Given the description of an element on the screen output the (x, y) to click on. 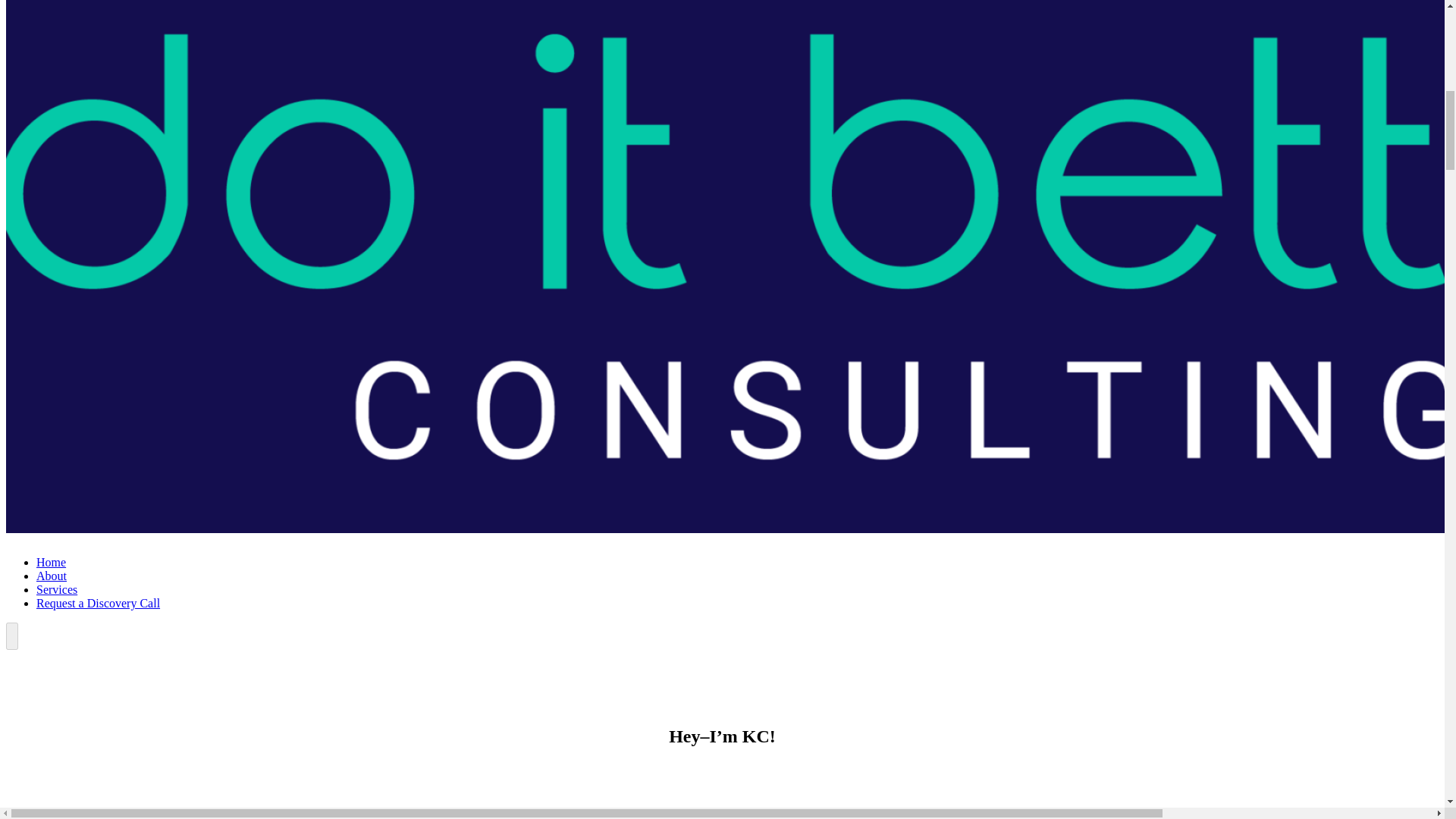
Request a Discovery Call (98, 603)
About (51, 575)
Home (50, 562)
Services (56, 589)
